Given the description of an element on the screen output the (x, y) to click on. 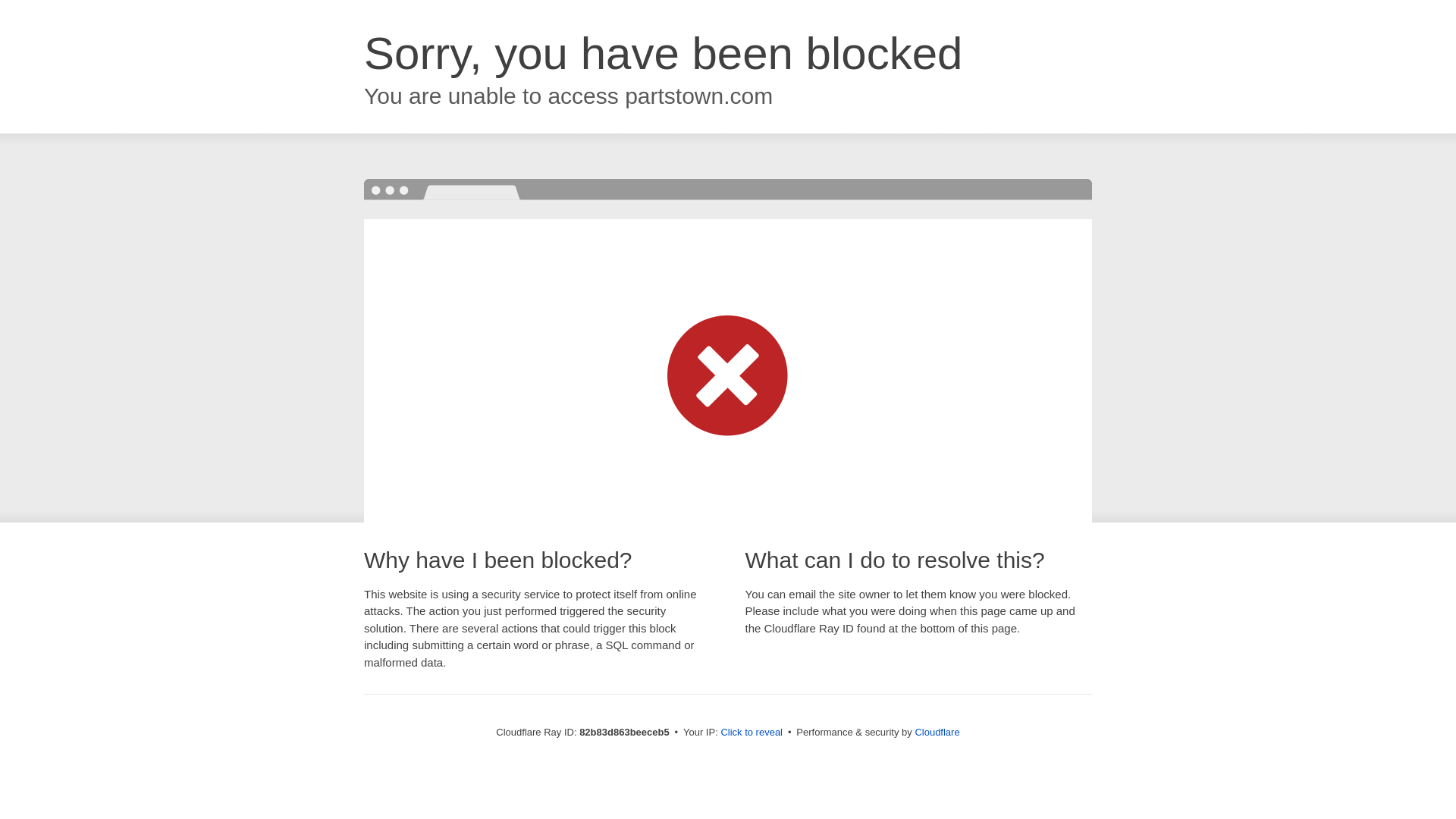
Cloudflare Element type: text (936, 731)
Click to reveal Element type: text (751, 732)
